Given the description of an element on the screen output the (x, y) to click on. 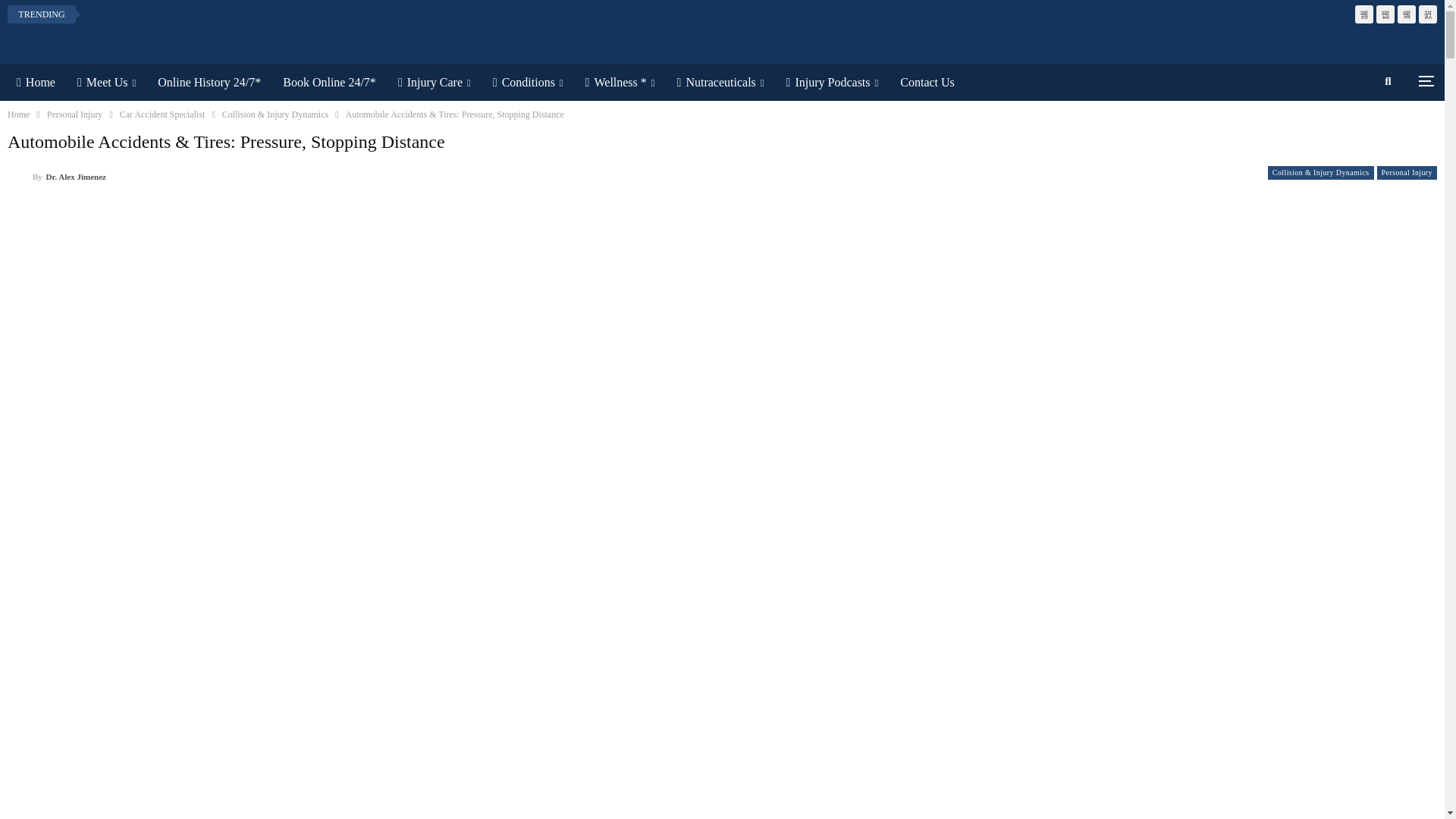
Browse Author Articles (56, 175)
Home (35, 82)
Meet Us (106, 82)
Injury Care (434, 82)
